Given the description of an element on the screen output the (x, y) to click on. 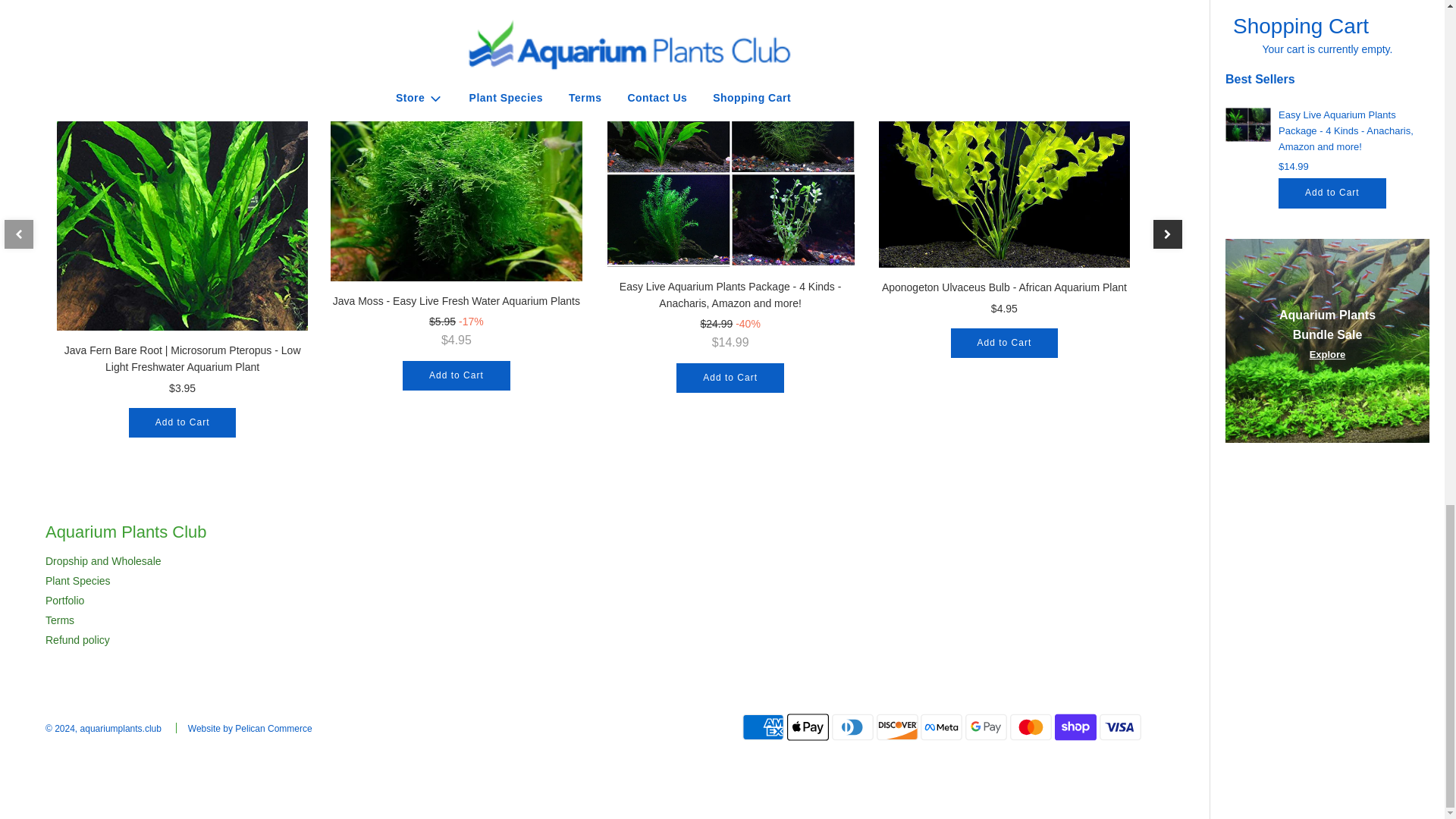
American Express (763, 726)
Shop Pay (1075, 726)
Visa (1120, 726)
Meta Pay (941, 726)
Discover (897, 726)
Google Pay (986, 726)
Aponogeton Ulvaceus Bulb - African Aquarium Plant (1004, 173)
Diners Club (852, 726)
Mastercard (1030, 726)
Apple Pay (807, 726)
Java Moss - Easy Live Fresh Water Aquarium Plants (455, 180)
